Given the description of an element on the screen output the (x, y) to click on. 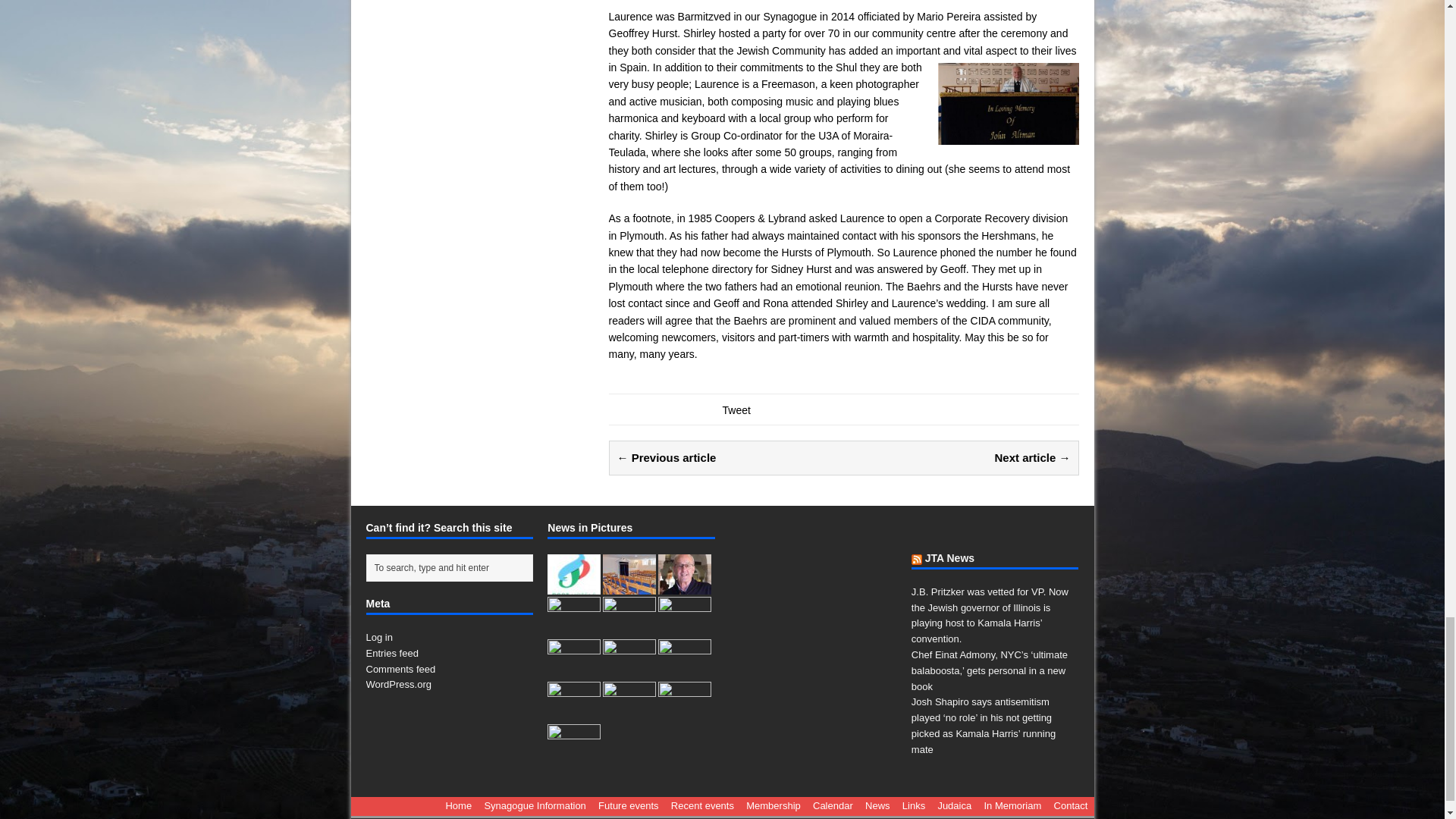
Parshah of the Week (684, 627)
Our Synagogue (629, 585)
Past Events (573, 627)
17th of Tammuz: History, Laws and Customs (629, 670)
To search, type and hit enter (452, 567)
Message From The President (684, 585)
Port Benidorm Hotel (573, 585)
Tweet (735, 410)
